Given the description of an element on the screen output the (x, y) to click on. 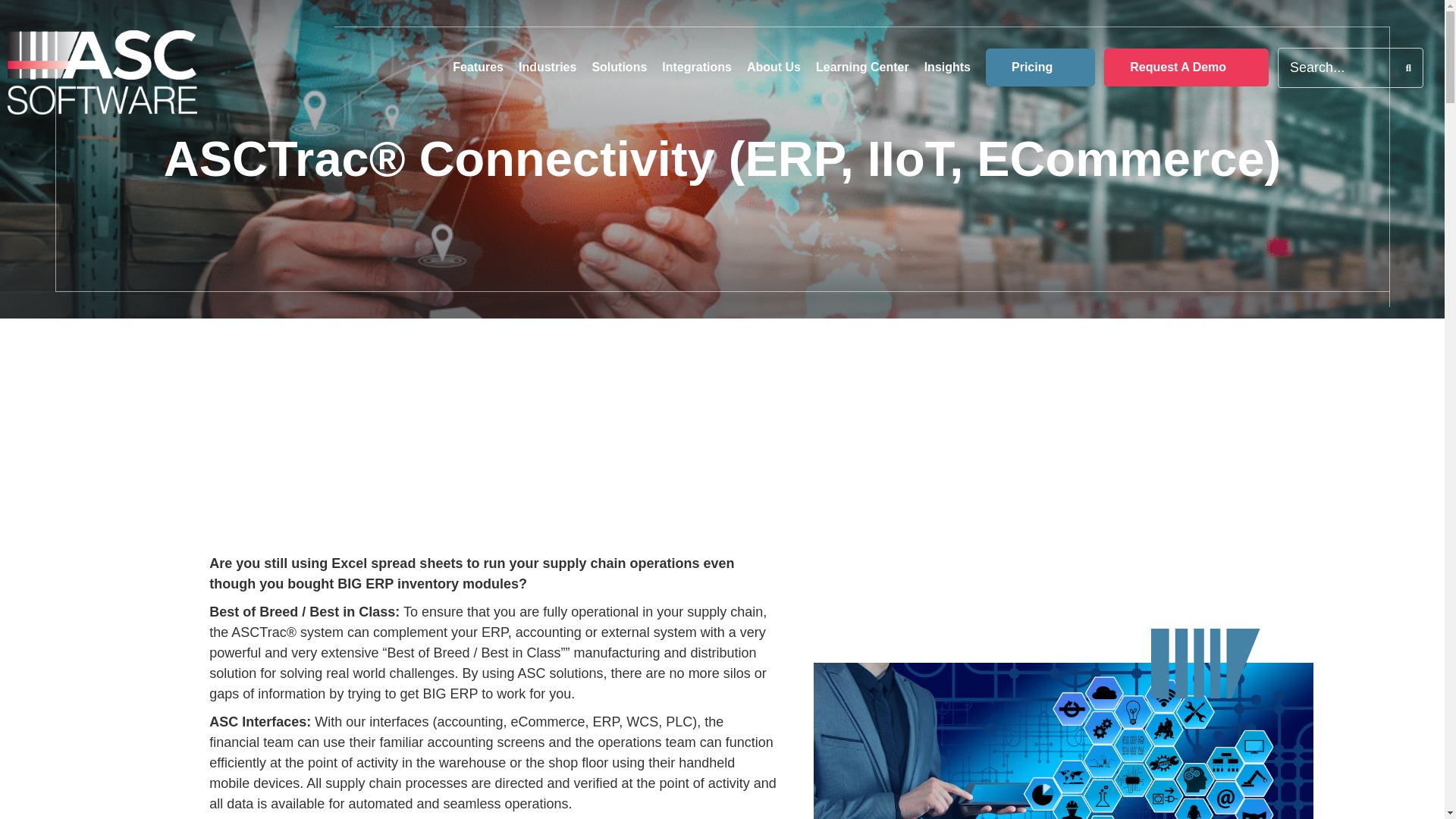
Solutions (618, 67)
Features (477, 67)
Industries (547, 67)
